Given the description of an element on the screen output the (x, y) to click on. 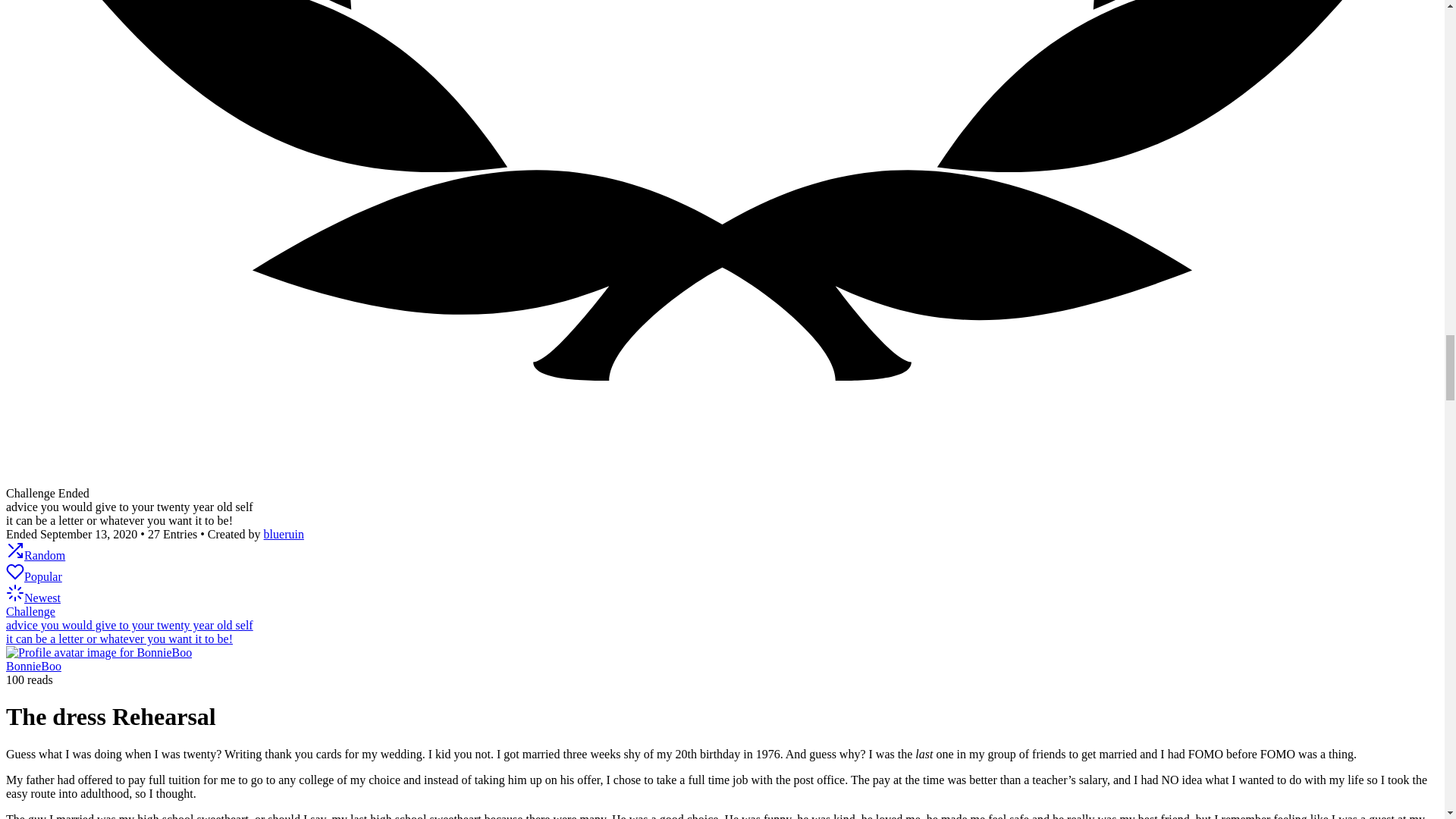
BonnieBoo (33, 666)
blueruin (283, 533)
Challenge (30, 611)
